Given the description of an element on the screen output the (x, y) to click on. 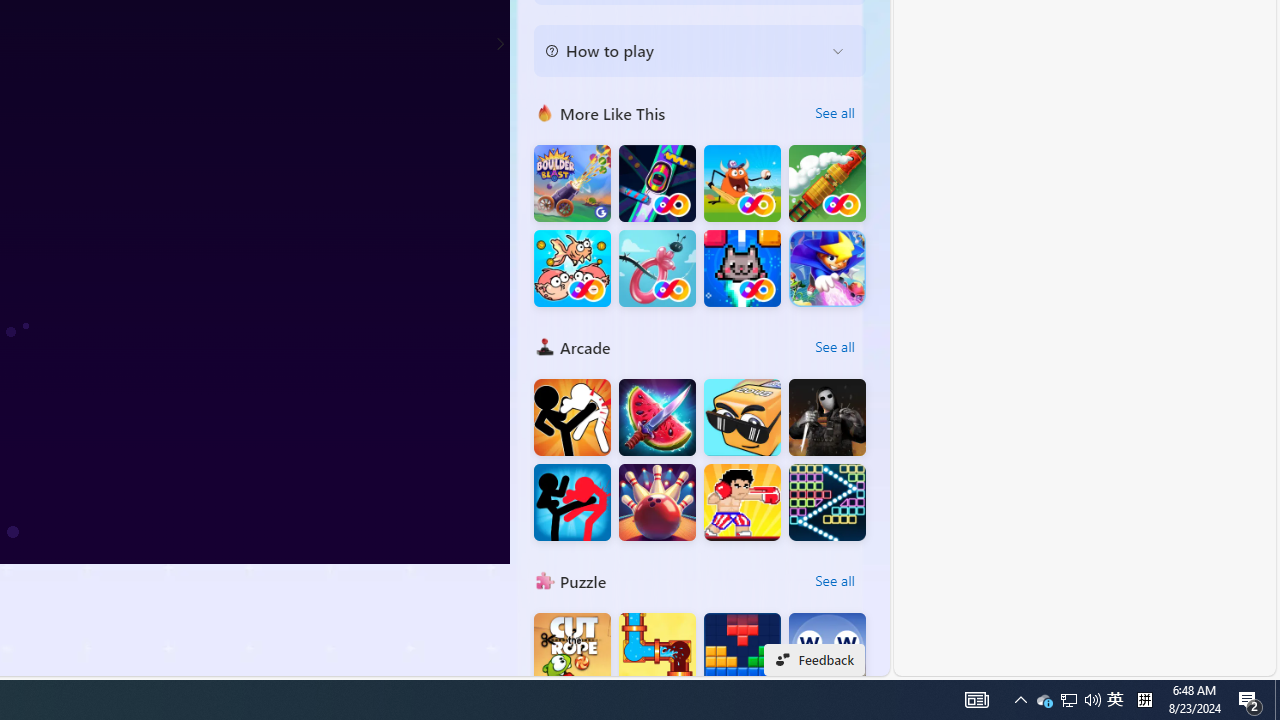
Cubes2048 (742, 417)
Kitten Force FRVR (742, 268)
Class: control (499, 43)
Arcade (544, 346)
Stickman Fighter : Mega Brawl (571, 417)
Plumber World (657, 651)
Bumper Car FRVR (657, 183)
Gold Train FRVR (827, 183)
Stickman fighter : Epic battle (571, 502)
Super Bowling Mania (657, 502)
Bricks Breaker Deluxe Crusher (827, 502)
BlockBuster: Adventures Puzzle (742, 651)
Hunter Hitman (827, 417)
